Given the description of an element on the screen output the (x, y) to click on. 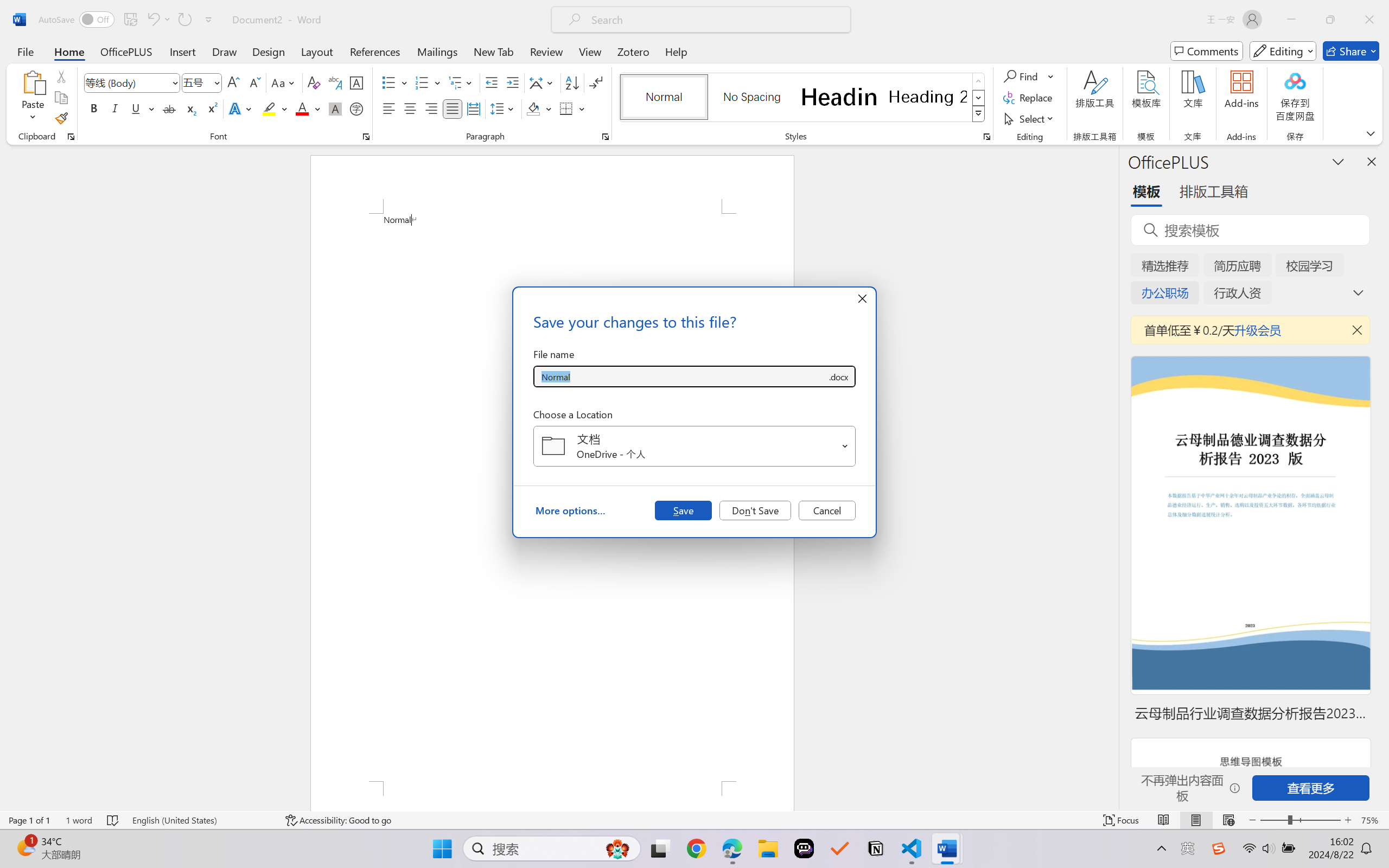
Cancel (826, 509)
Underline (142, 108)
Numbering (421, 82)
Page Number Page 1 of 1 (29, 819)
Show/Hide Editing Marks (595, 82)
Repeat Style (184, 19)
Bullets (388, 82)
Strikethrough (169, 108)
Restore Down (1330, 19)
